Given the description of an element on the screen output the (x, y) to click on. 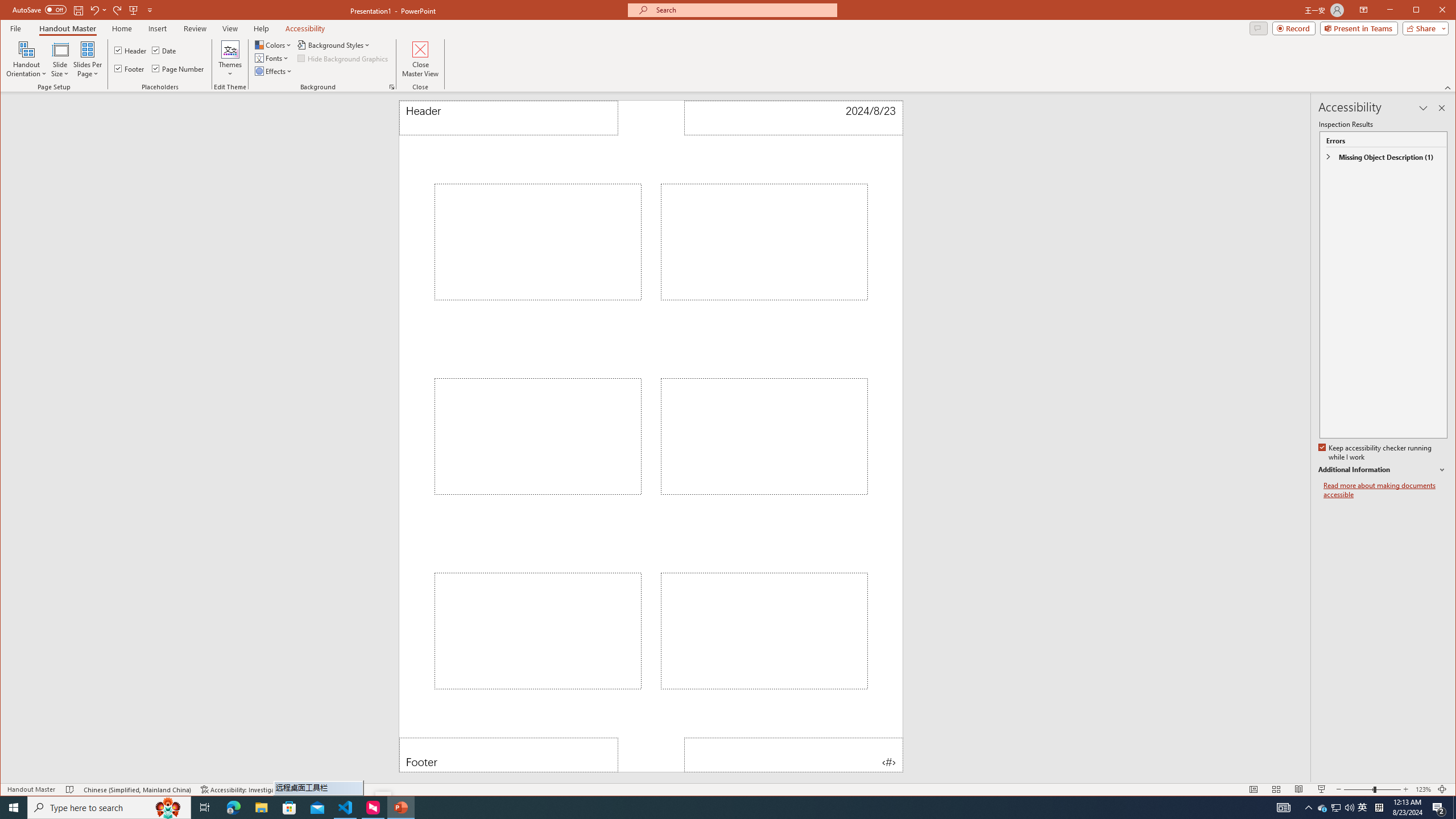
Microsoft Store (289, 807)
Date (164, 49)
User Promoted Notification Area (1335, 807)
